Given the description of an element on the screen output the (x, y) to click on. 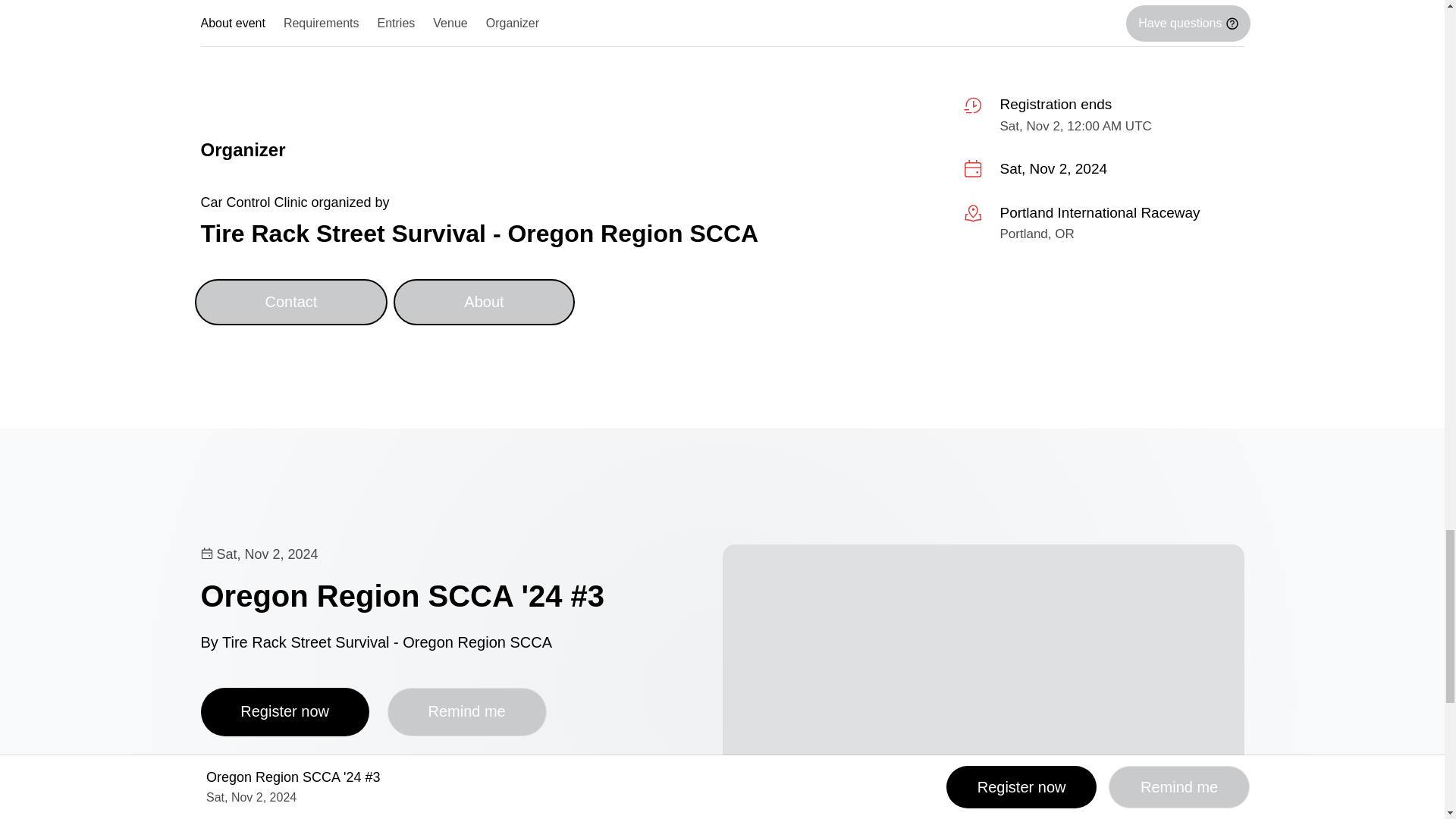
Register now (284, 711)
Car Control Clinic (253, 201)
Remind me (467, 711)
Contact (290, 302)
About (483, 302)
